Given the description of an element on the screen output the (x, y) to click on. 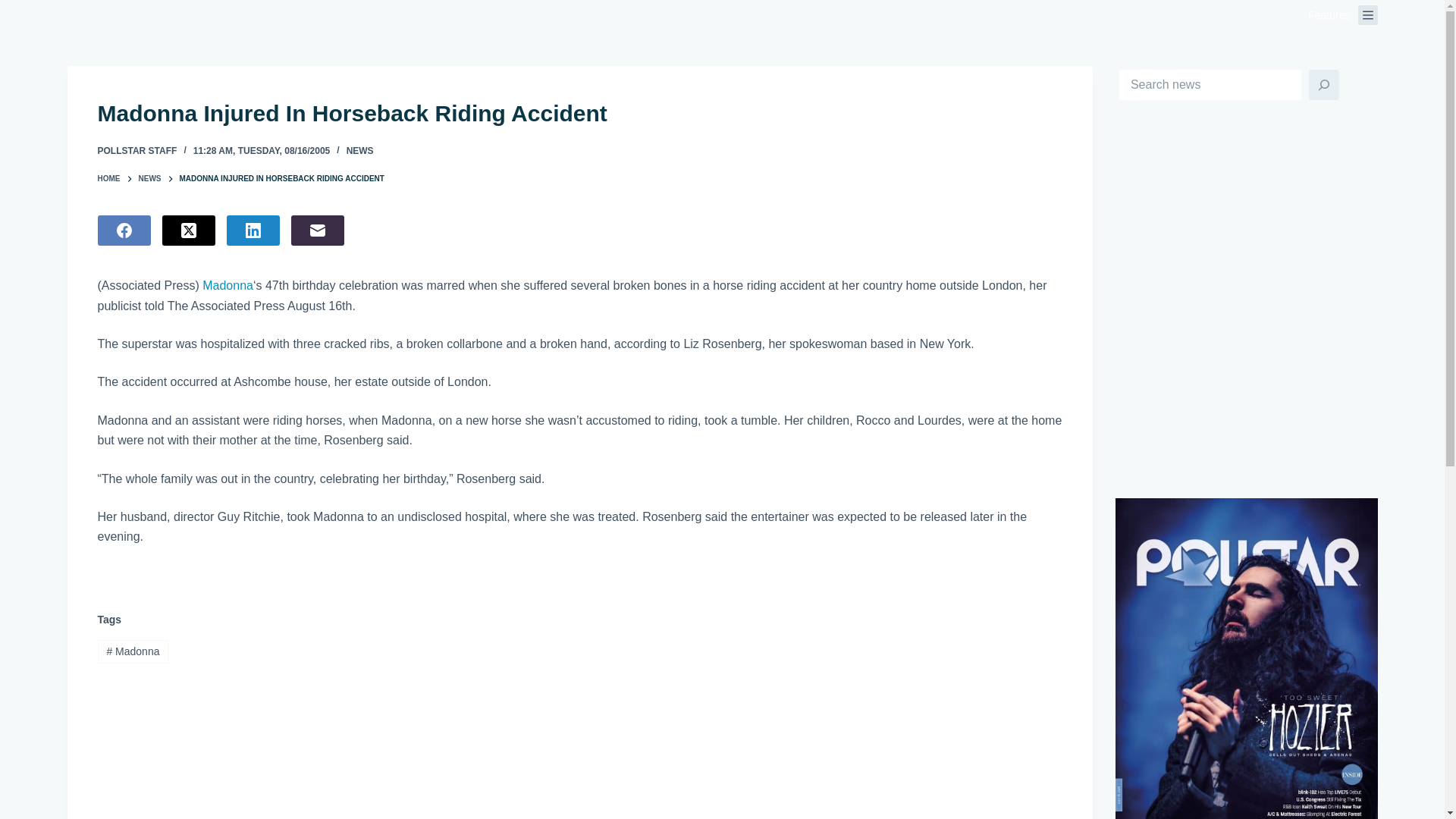
Madonna Injured In Horseback Riding Accident (579, 113)
Skip to content (15, 7)
Posts by Pollstar Staff (136, 150)
